Given the description of an element on the screen output the (x, y) to click on. 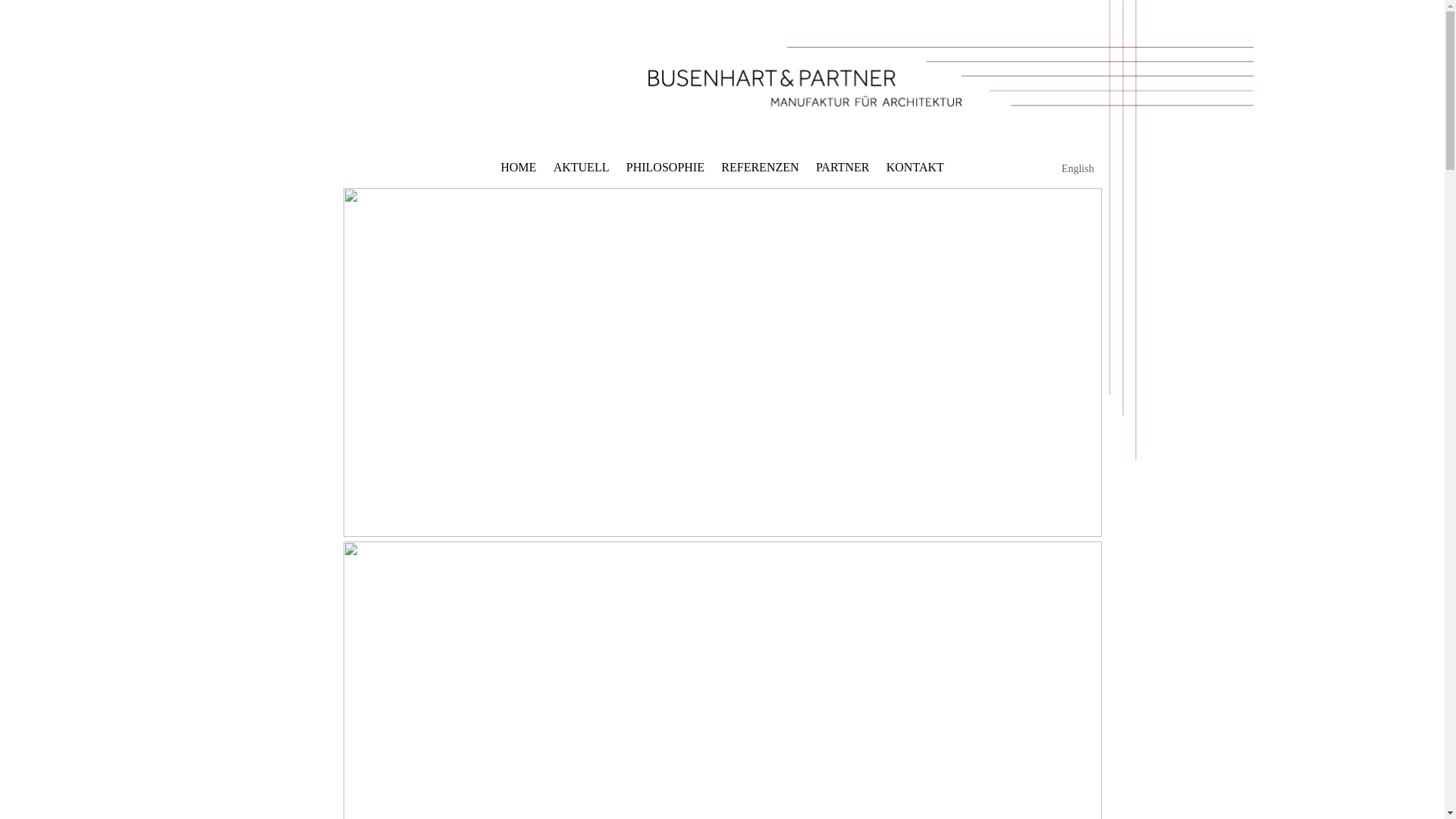
AKTUELL Element type: text (581, 167)
PARTNER Element type: text (842, 167)
PHILOSOPHIE Element type: text (665, 167)
HOME Element type: text (518, 167)
English Element type: text (1077, 168)
REFERENZEN Element type: text (759, 167)
KONTAKT Element type: text (915, 167)
